Given the description of an element on the screen output the (x, y) to click on. 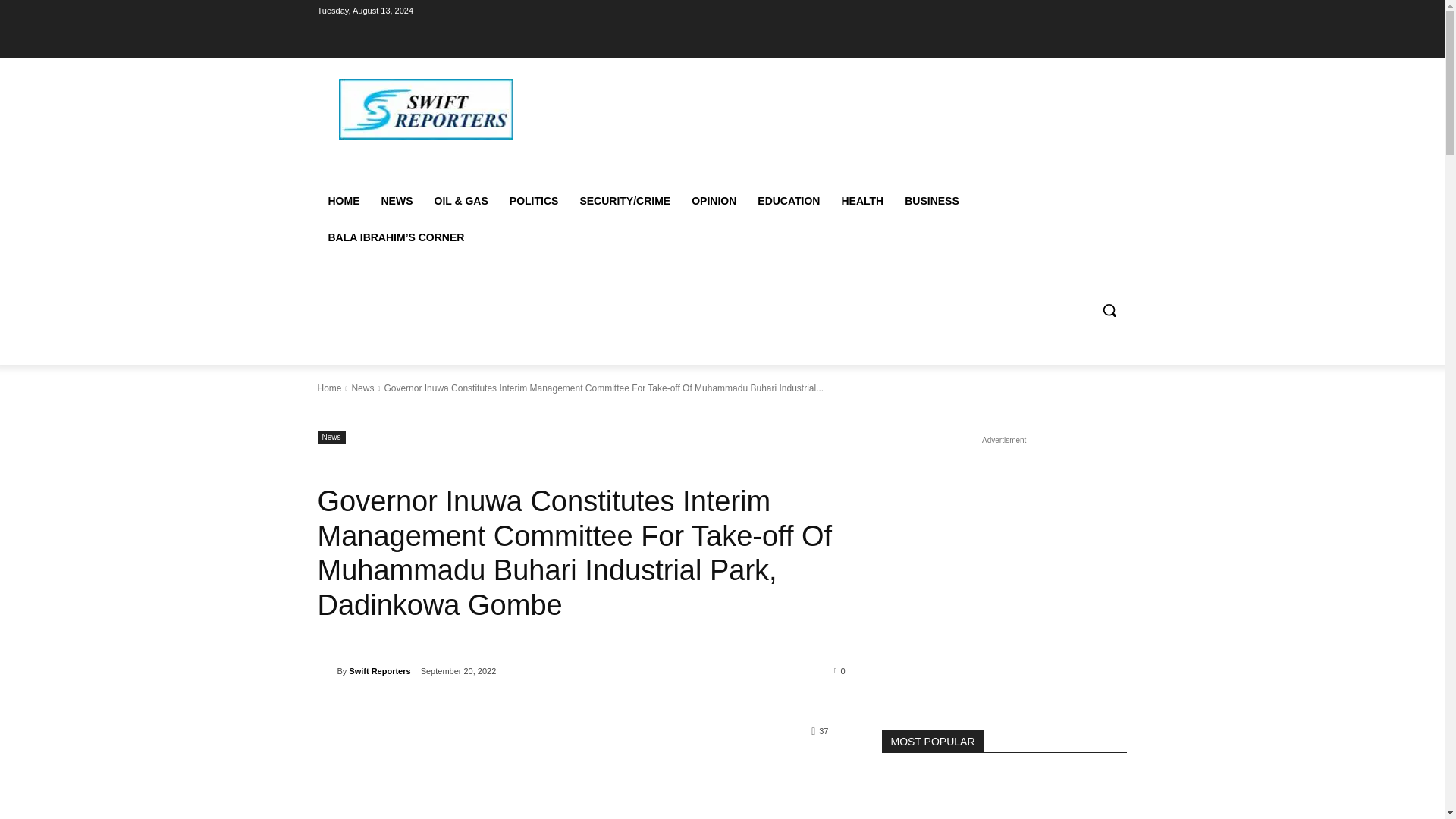
BUSINESS (931, 200)
Swift Reporters (326, 670)
News (331, 437)
View all posts in News (362, 388)
OPINION (713, 200)
EDUCATION (787, 200)
HOME (343, 200)
HEALTH (861, 200)
Swift Reporters (379, 671)
POLITICS (534, 200)
